Given the description of an element on the screen output the (x, y) to click on. 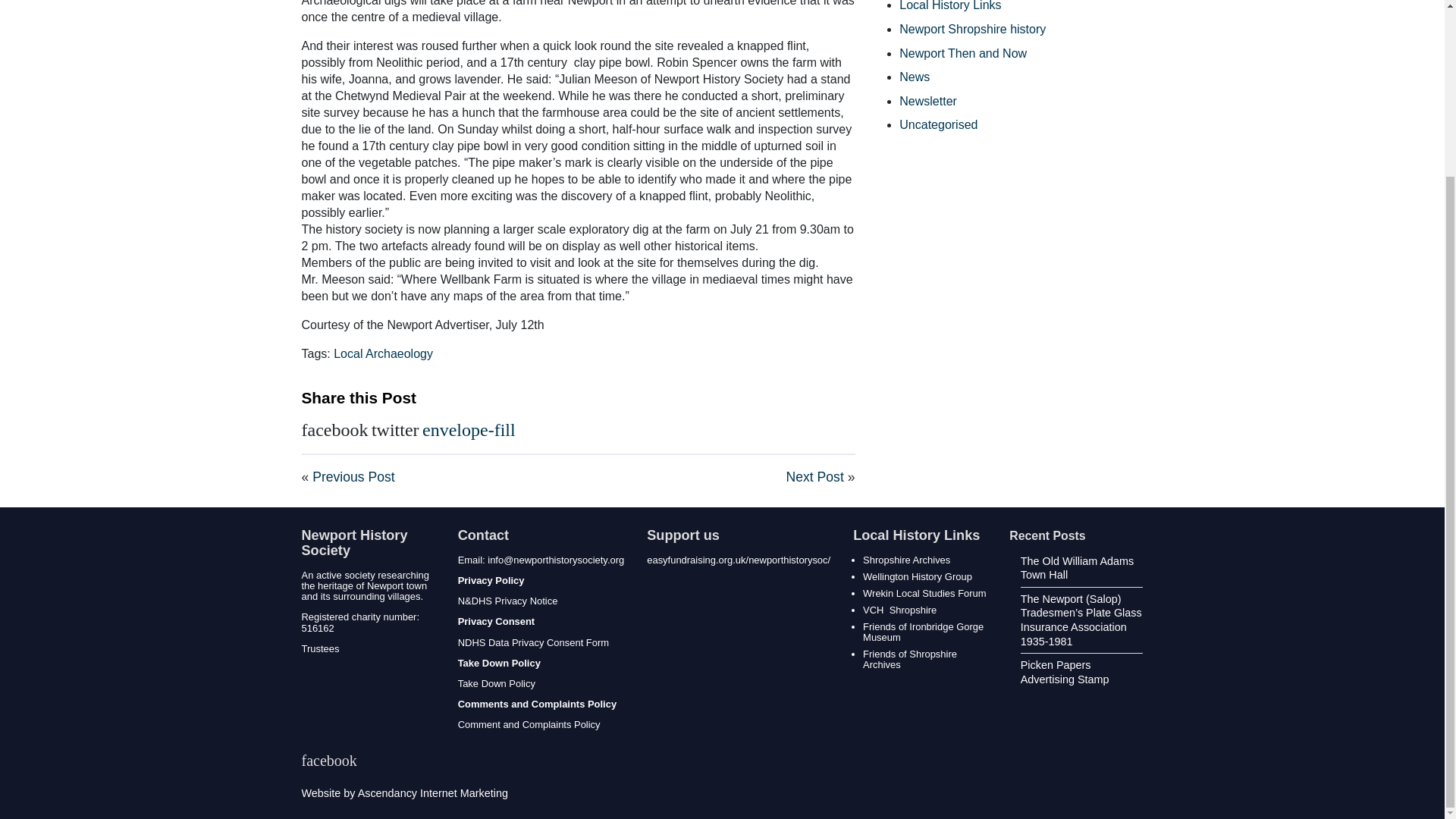
Comment and Complaints Policy (528, 724)
Newport Then and Now (962, 51)
News (914, 76)
NDHS Data Privacy Consent Form (533, 642)
Share on Facebook (334, 429)
Uncategorised (937, 124)
Newsletter (927, 101)
Previous Post (353, 476)
Next Post (816, 476)
Local Archaeology (382, 353)
Local History Links (950, 5)
Shropshire Archives (906, 559)
Ascendancy Internet Marketing (433, 793)
Facebook (328, 760)
Share on Twitter (395, 429)
